Given the description of an element on the screen output the (x, y) to click on. 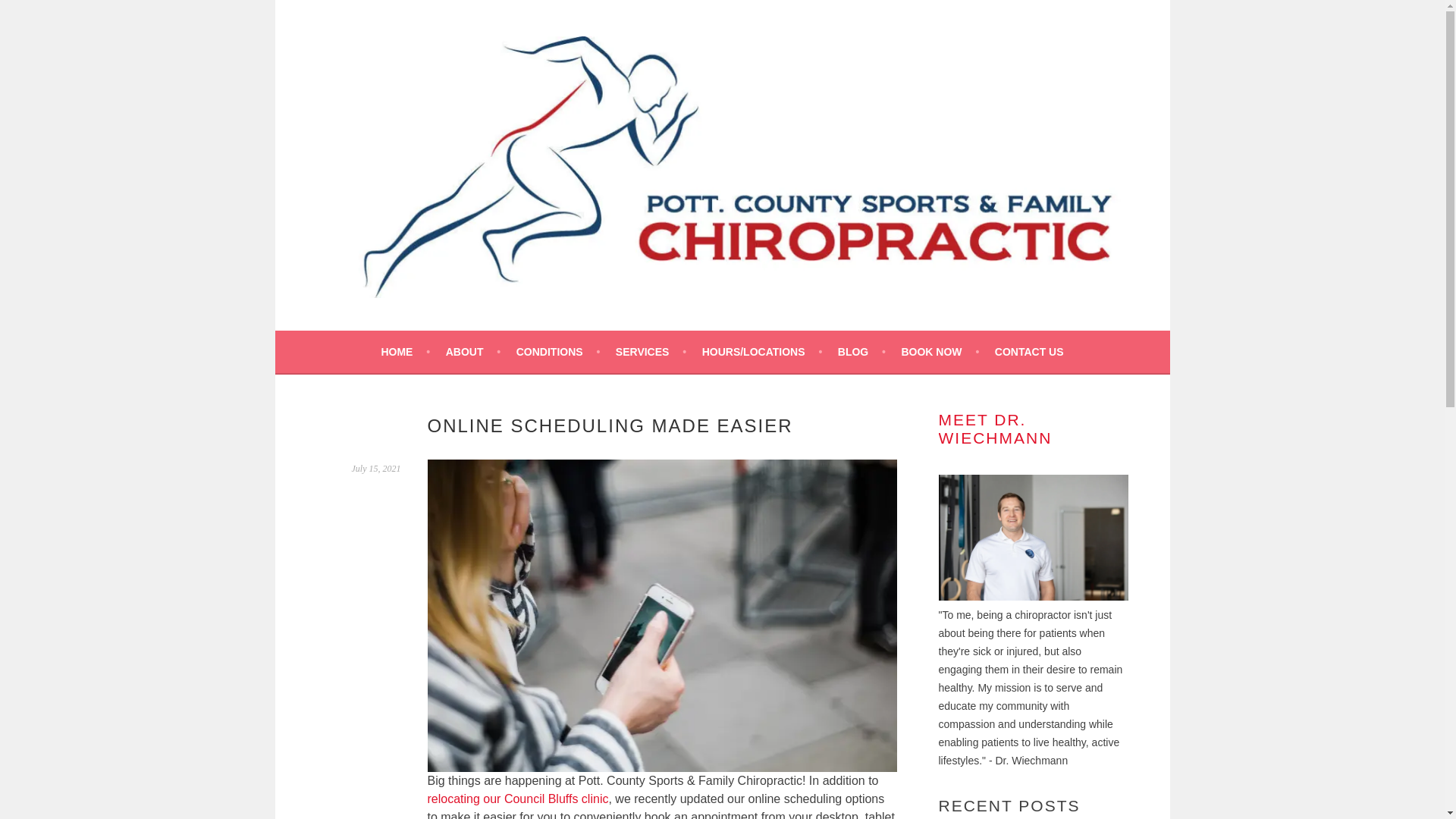
MEET DR. WIECHMANN (995, 428)
POTTAWATTAMIE COUNTY SPORTS AND FAMILY CHIROPRACTIC (779, 338)
relocating our Council Bluffs clinic (518, 798)
CONDITIONS (557, 352)
CONTACT US (1029, 352)
SERVICES (650, 352)
ABOUT (472, 352)
BOOK NOW (939, 352)
July 15, 2021 (376, 468)
HOME (404, 352)
